Given the description of an element on the screen output the (x, y) to click on. 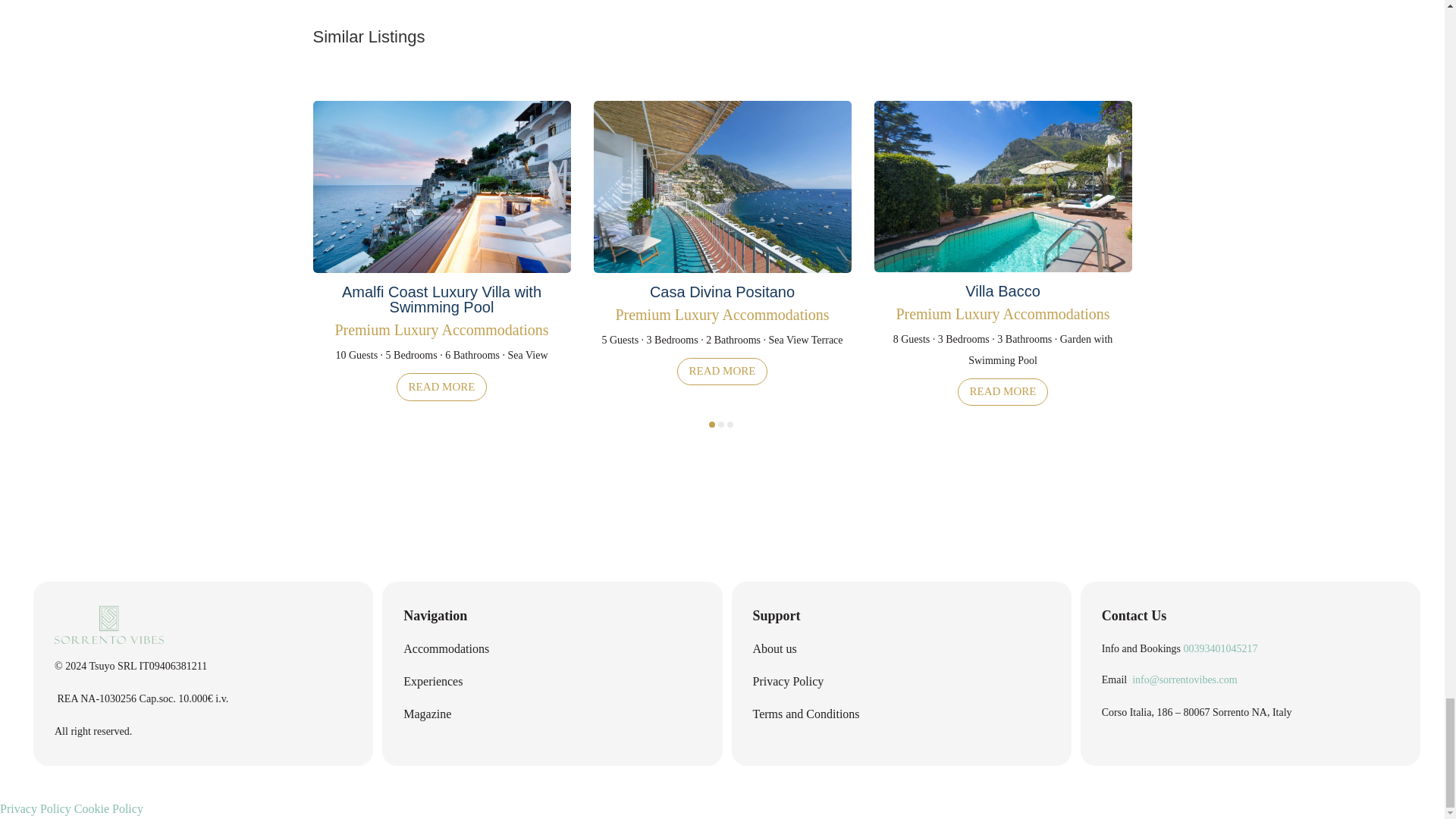
logo (109, 624)
Cookie Policy  (108, 808)
Privacy Policy (35, 808)
